Given the description of an element on the screen output the (x, y) to click on. 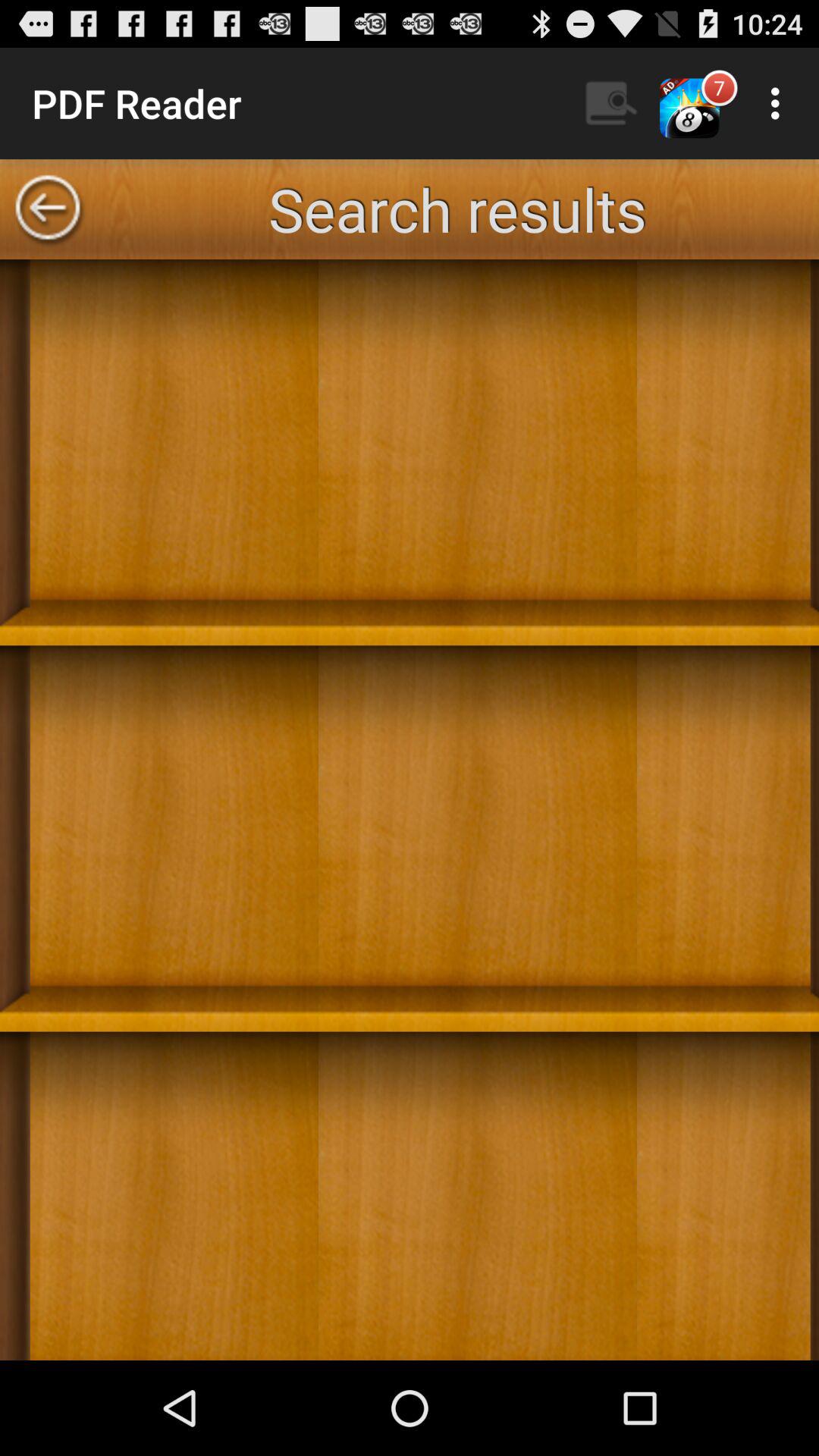
turn off item below pdf reader app (47, 209)
